Given the description of an element on the screen output the (x, y) to click on. 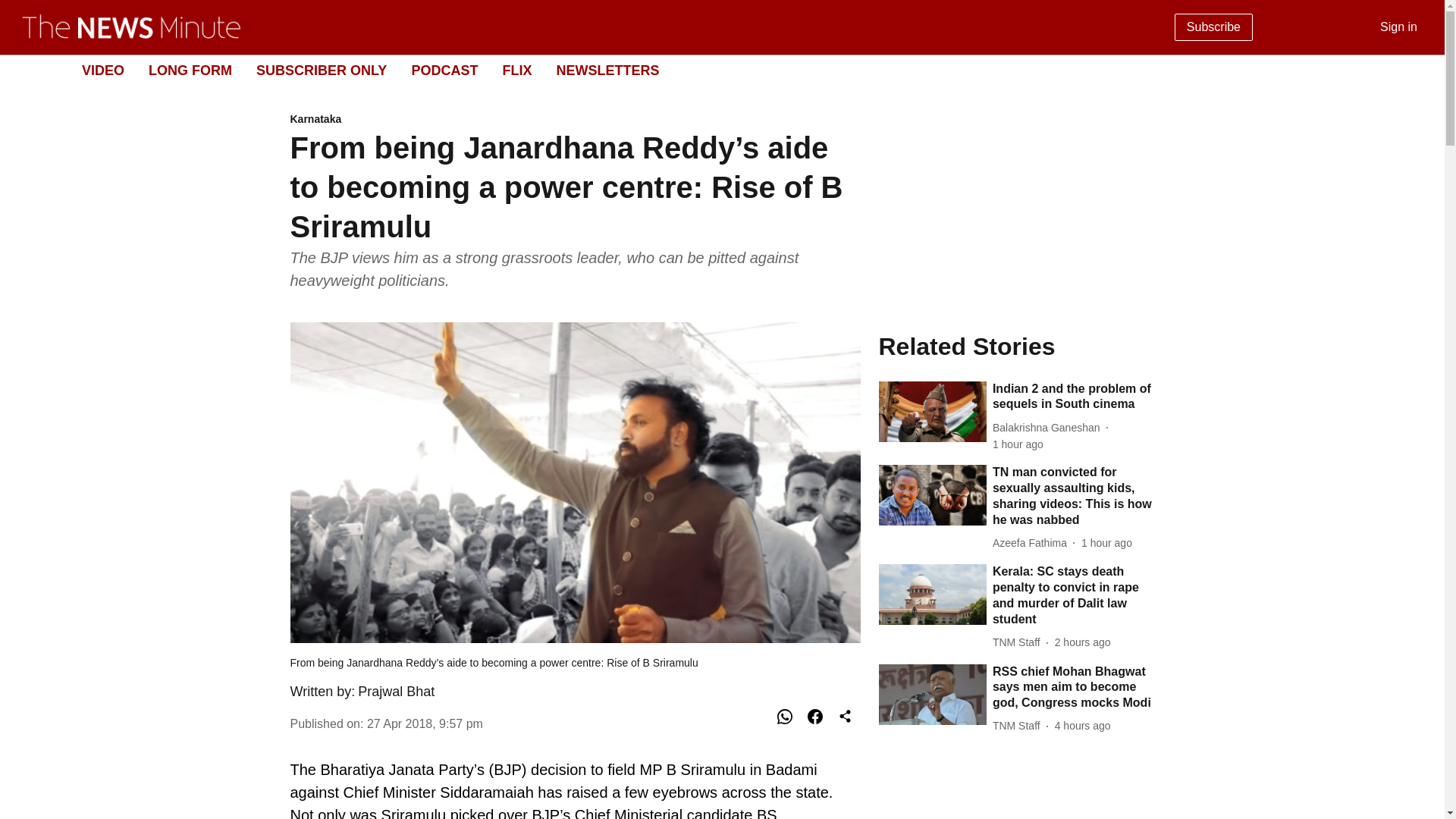
Prajwal Bhat (395, 691)
PODCAST (443, 70)
2024-07-19 06:22 (1017, 444)
2018-04-27 13:57 (424, 723)
Dark Mode (1415, 70)
Karnataka (574, 119)
Azeefa Fathima (1032, 543)
Balakrishna Ganeshan (1049, 427)
VIDEO (102, 70)
LONG FORM (189, 70)
FLIX (516, 70)
Related Stories (1015, 345)
Indian 2 and the problem of sequels in South cinema (1073, 397)
2024-07-19 03:50 (1082, 725)
